Given the description of an element on the screen output the (x, y) to click on. 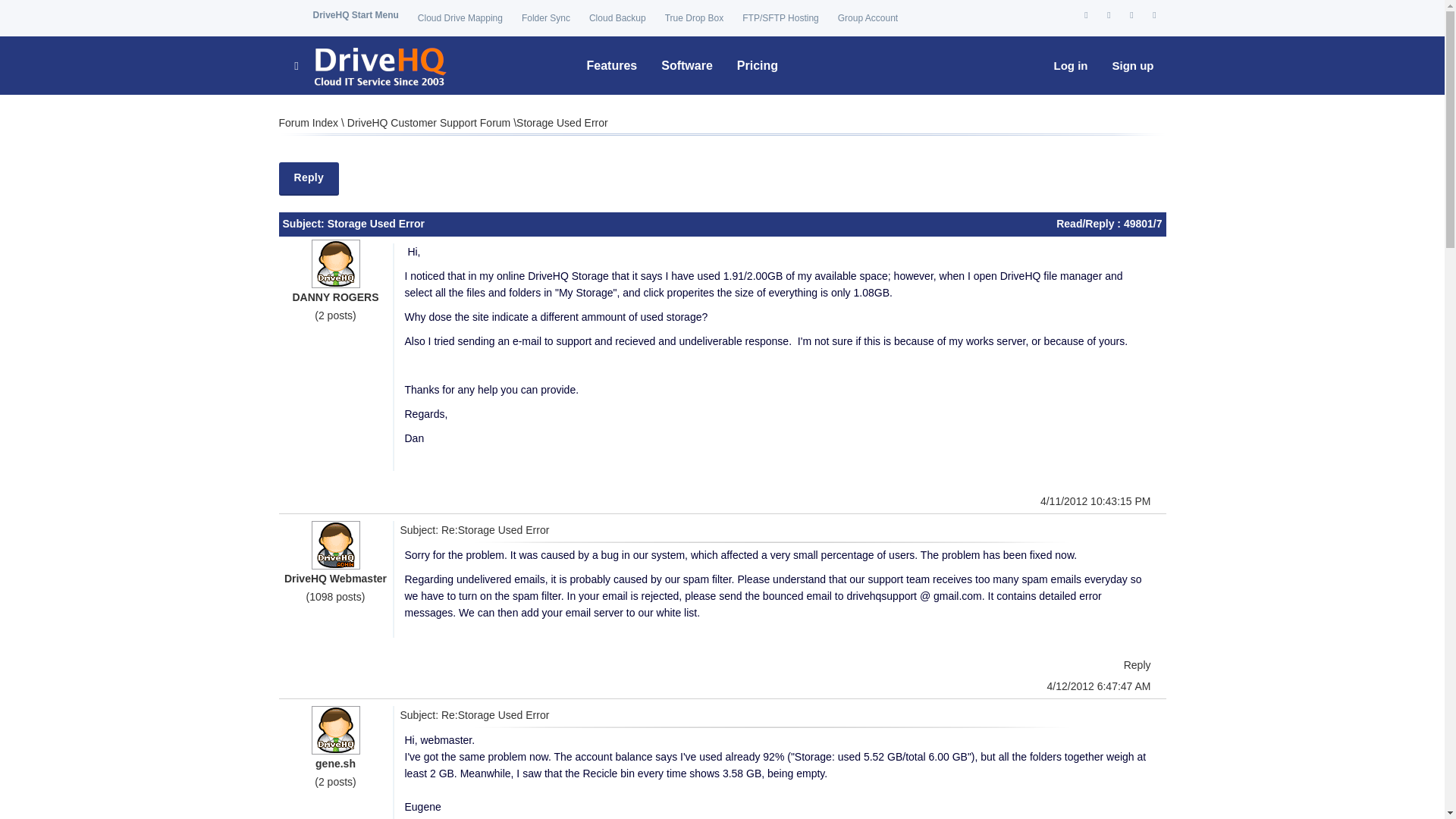
Automatically back up PC, Mac and Server to the cloud (617, 18)
Folder Sync (545, 18)
Complete FTP Server hosting solution (780, 18)
Group Account (868, 18)
DriveHQ Cloud IT Service Home (369, 65)
DriveHQ Start Menu (355, 15)
True Drop Box (694, 18)
Cloud Drive Mapping (459, 18)
Cloud Backup (617, 18)
